Given the description of an element on the screen output the (x, y) to click on. 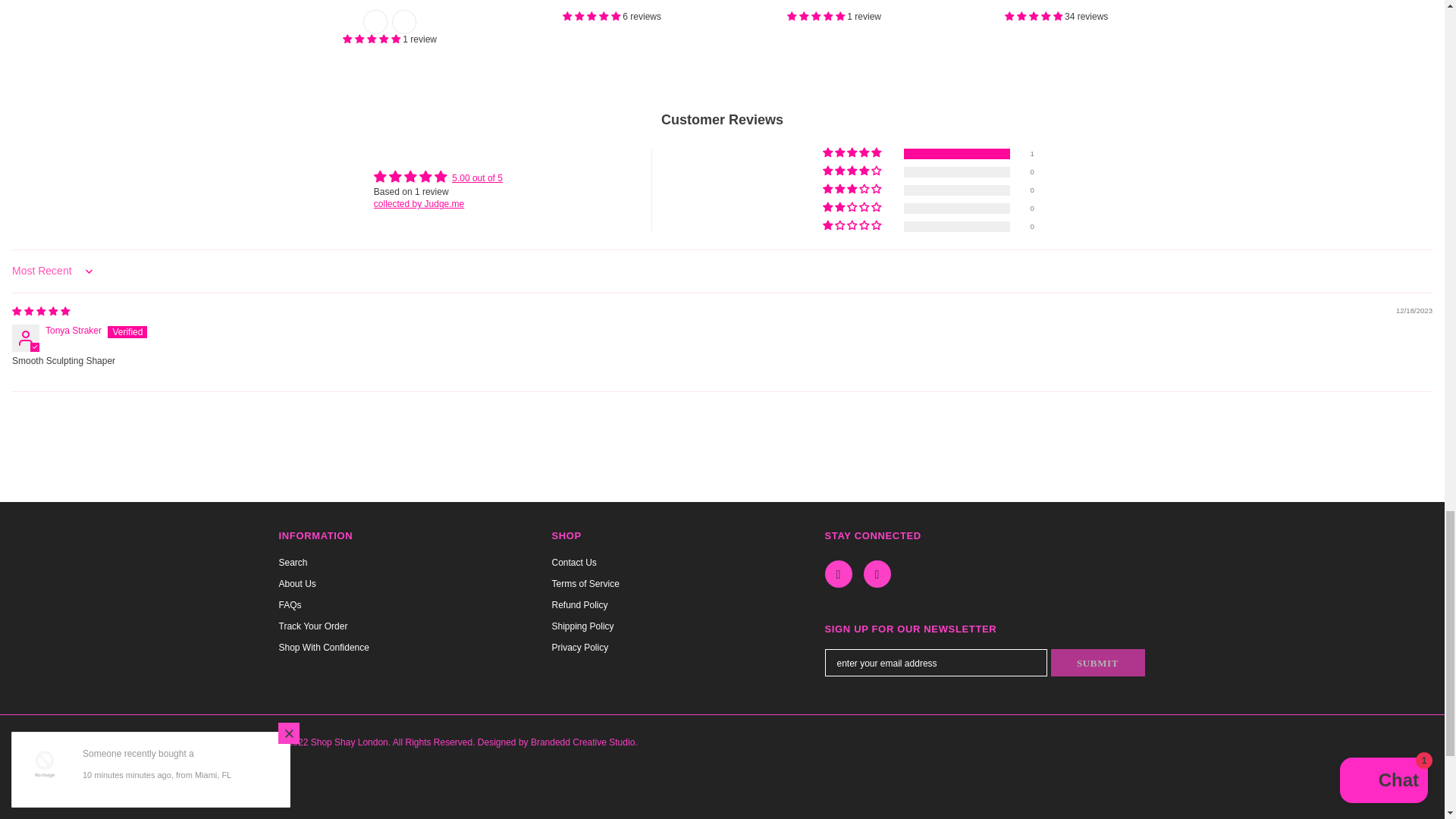
Submit (1097, 662)
